Given the description of an element on the screen output the (x, y) to click on. 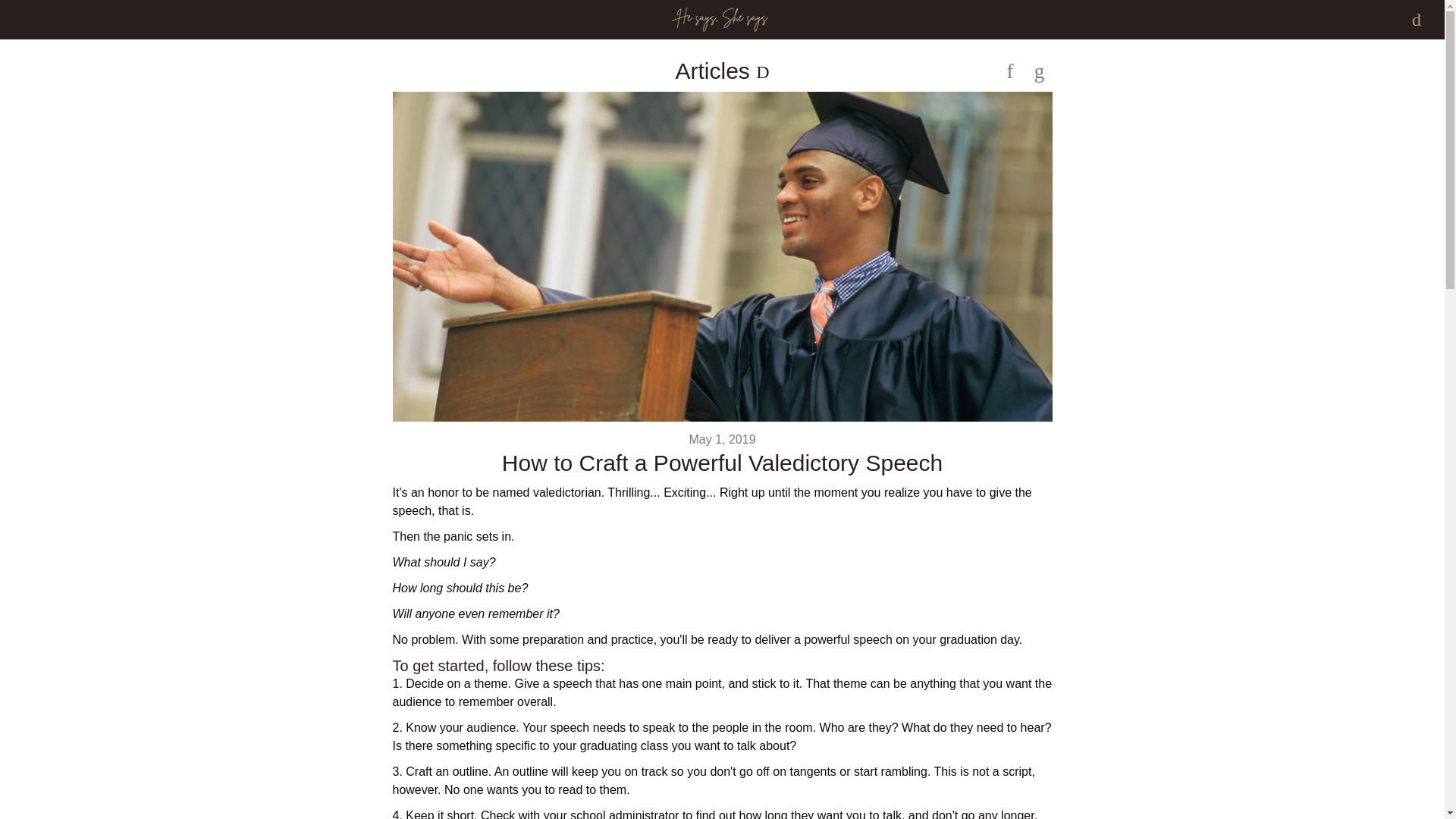
Articles (715, 70)
How to Craft a Powerful Valedictory Speech (722, 462)
